Given the description of an element on the screen output the (x, y) to click on. 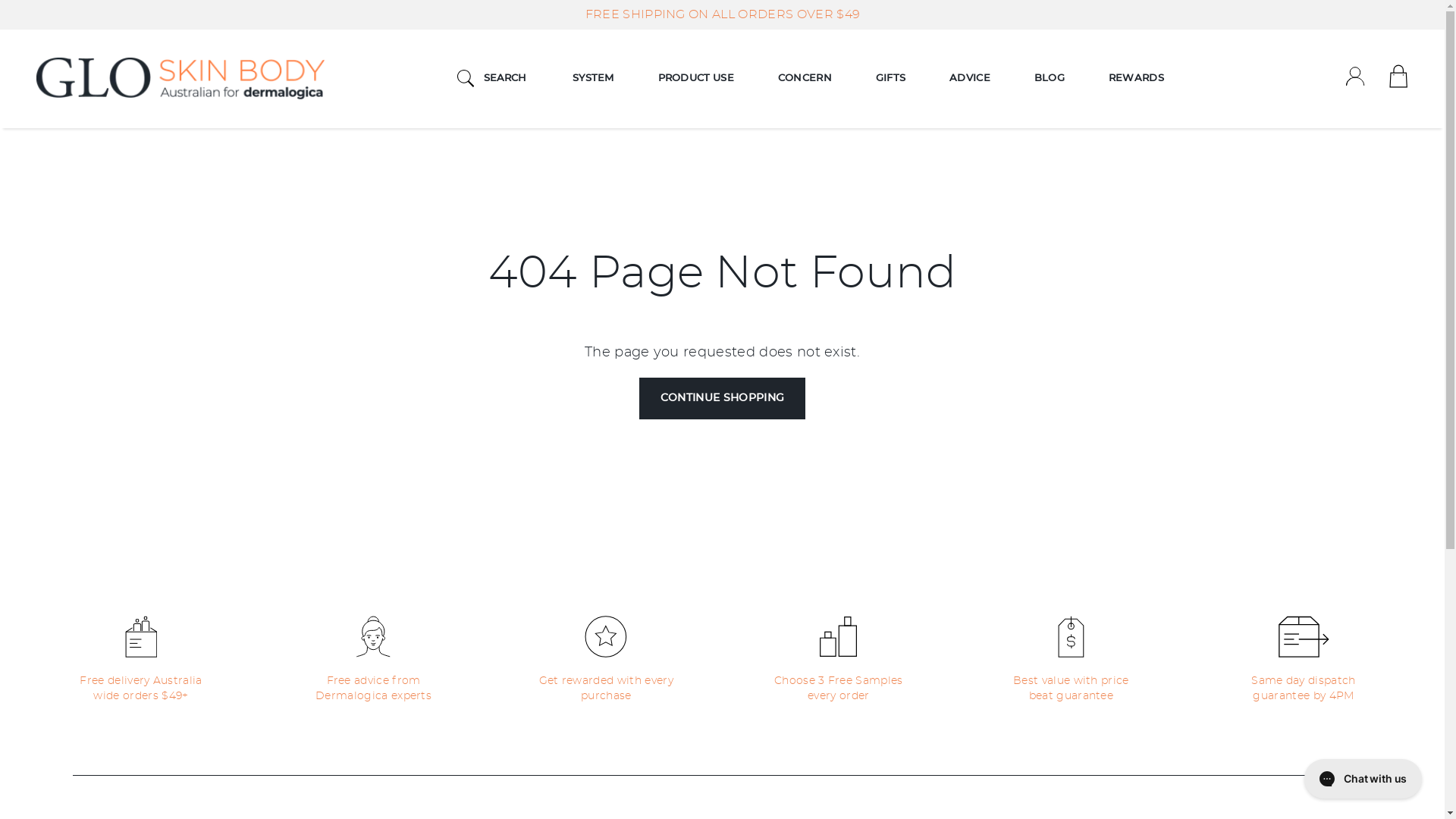
SYSTEM Element type: text (593, 78)
Gorgias live chat messenger Element type: hover (1362, 778)
Home Element type: hover (180, 78)
CHOOSE YOUR 3 FREE SAMPLES Element type: text (722, 14)
ADVICE Element type: text (969, 78)
CONTINUE SHOPPING Element type: text (722, 398)
SEARCH Element type: text (492, 78)
REWARDS Element type: text (1136, 78)
PRODUCT USE Element type: text (696, 78)
CONCERN Element type: text (804, 78)
BLOG Element type: text (1049, 78)
GIFTS Element type: text (890, 78)
